Given the description of an element on the screen output the (x, y) to click on. 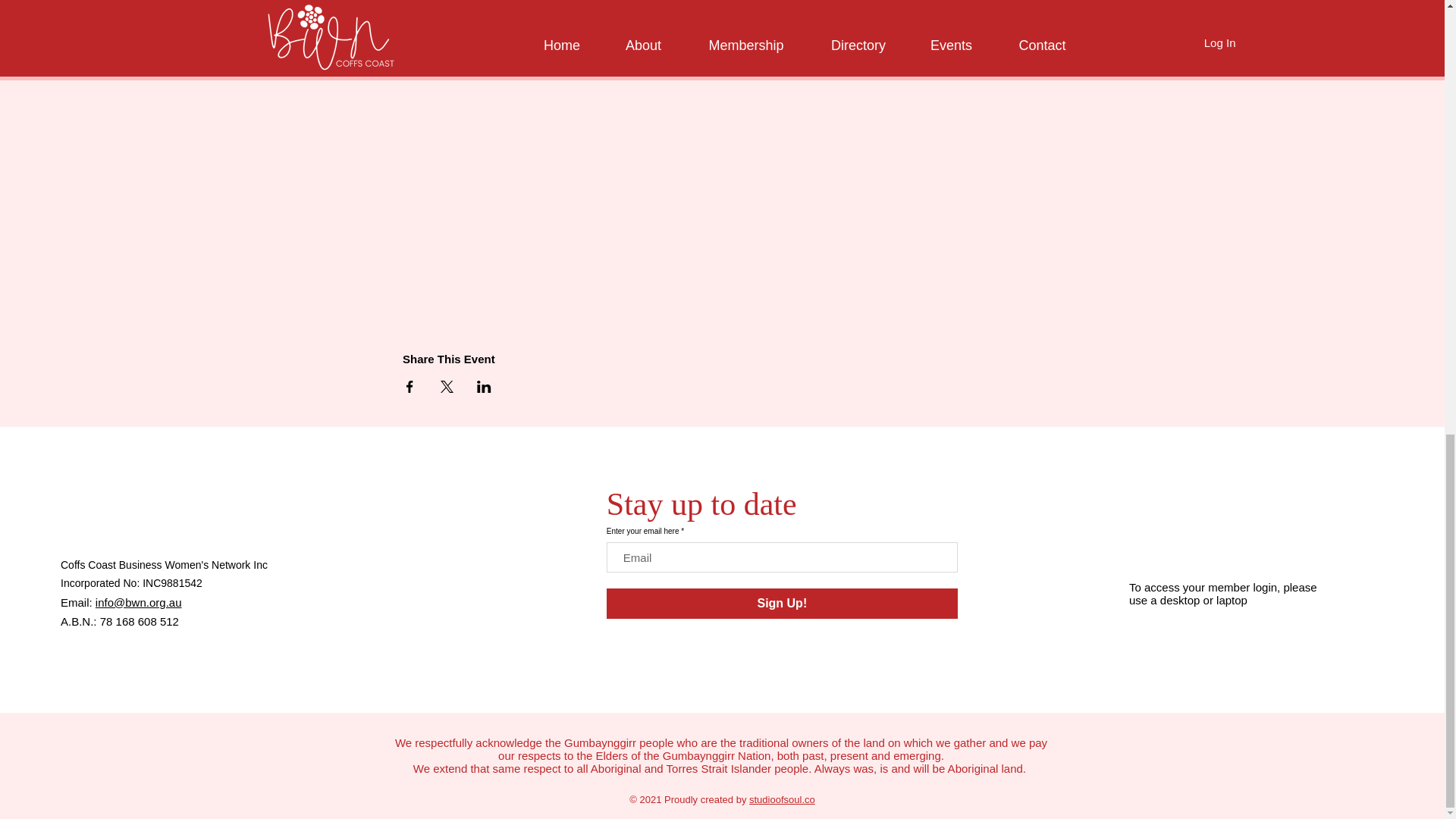
Sign Up! (782, 603)
studioofsoul.co (782, 799)
